Given the description of an element on the screen output the (x, y) to click on. 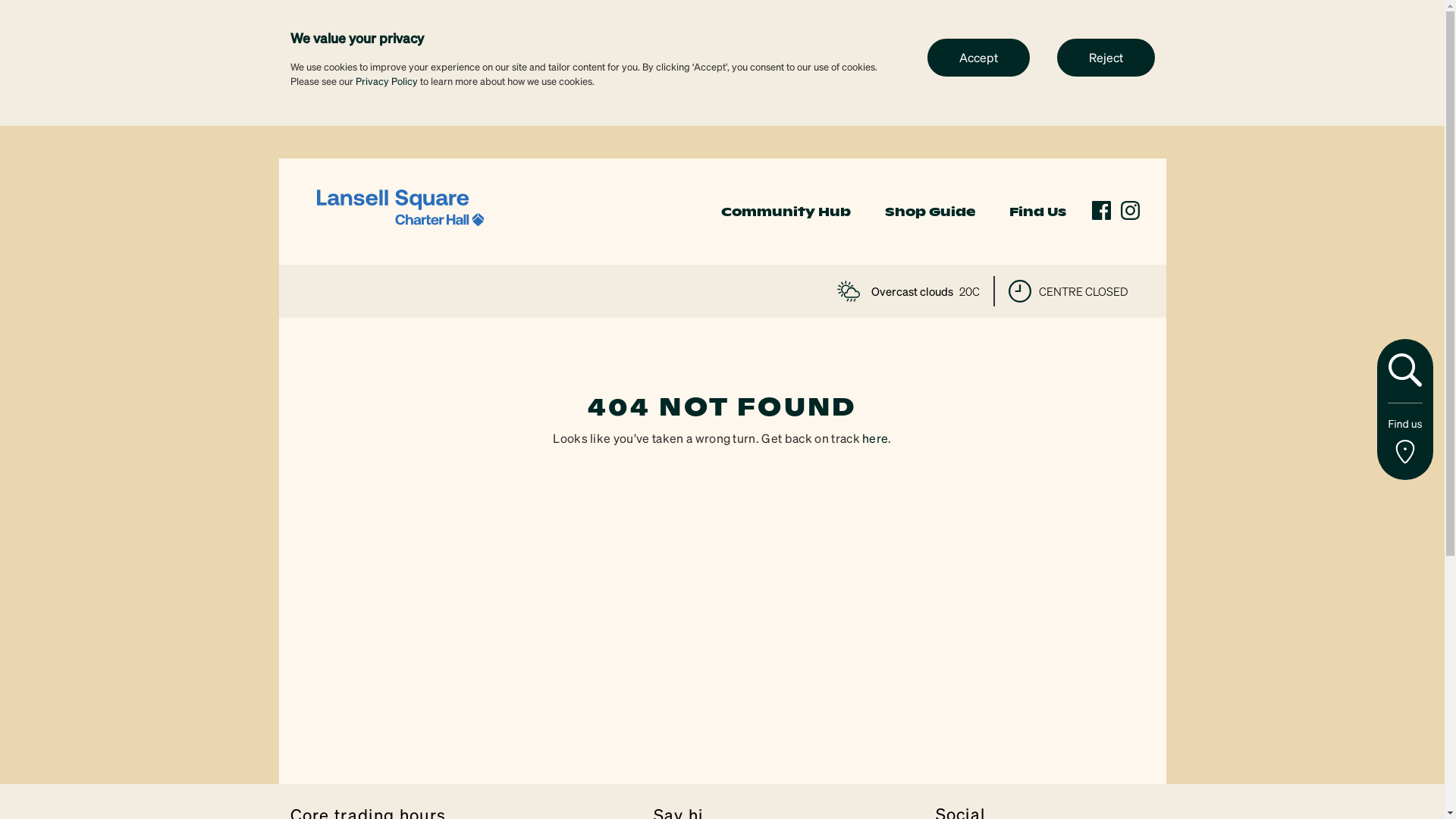
instagram Element type: hover (1129, 209)
Reject Element type: text (1105, 56)
facebook Element type: hover (1101, 209)
Community Hub Element type: text (785, 211)
Find Us Element type: text (1036, 211)
time Element type: hover (1019, 290)
Privacy Policy Element type: text (385, 80)
Accept Element type: text (977, 56)
Shop Guide Element type: text (929, 211)
here Element type: text (875, 437)
CENTRE CLOSED Element type: text (1068, 290)
